Given the description of an element on the screen output the (x, y) to click on. 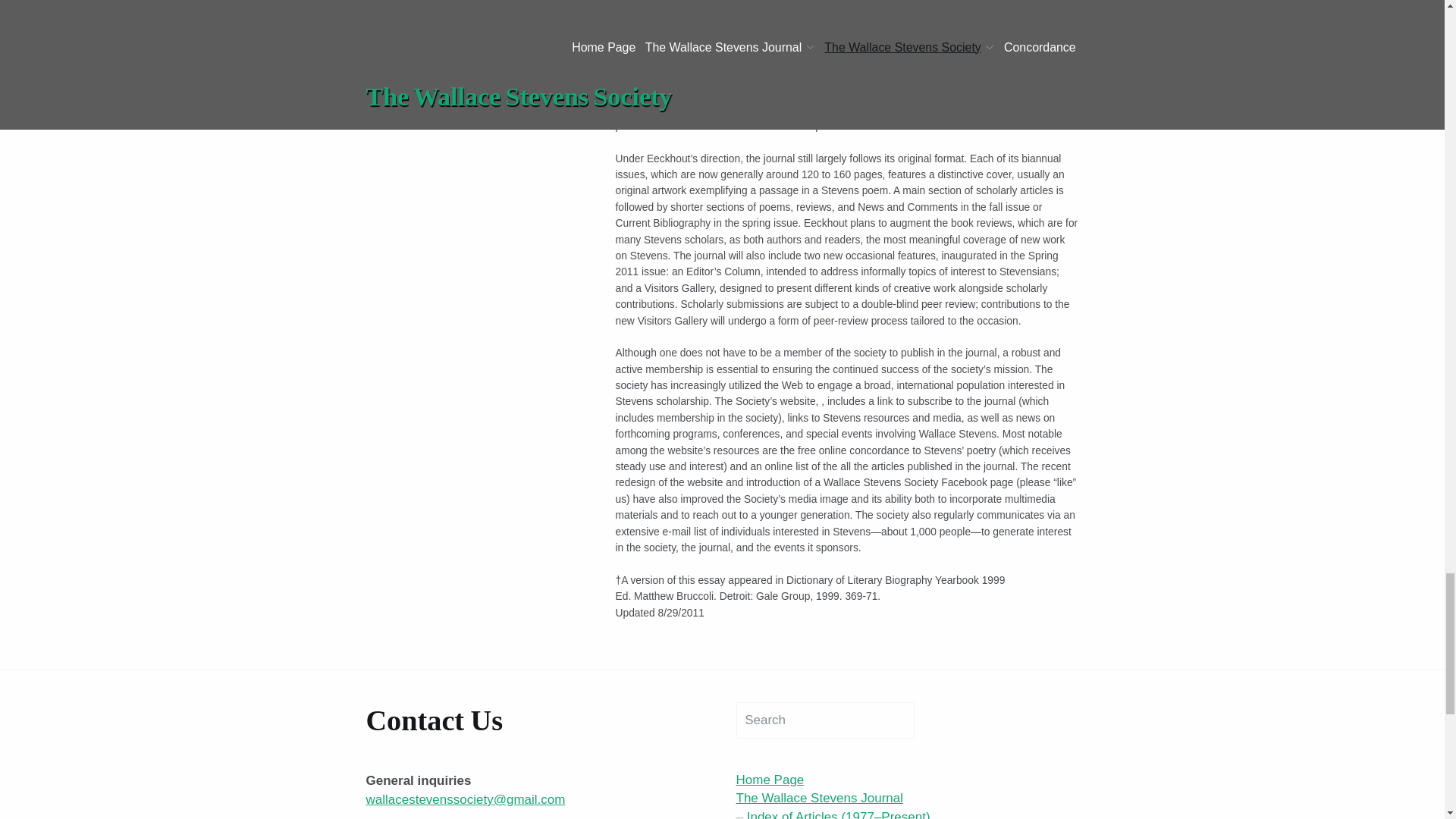
Home Page (770, 780)
The Wallace Stevens Journal (819, 798)
